Given the description of an element on the screen output the (x, y) to click on. 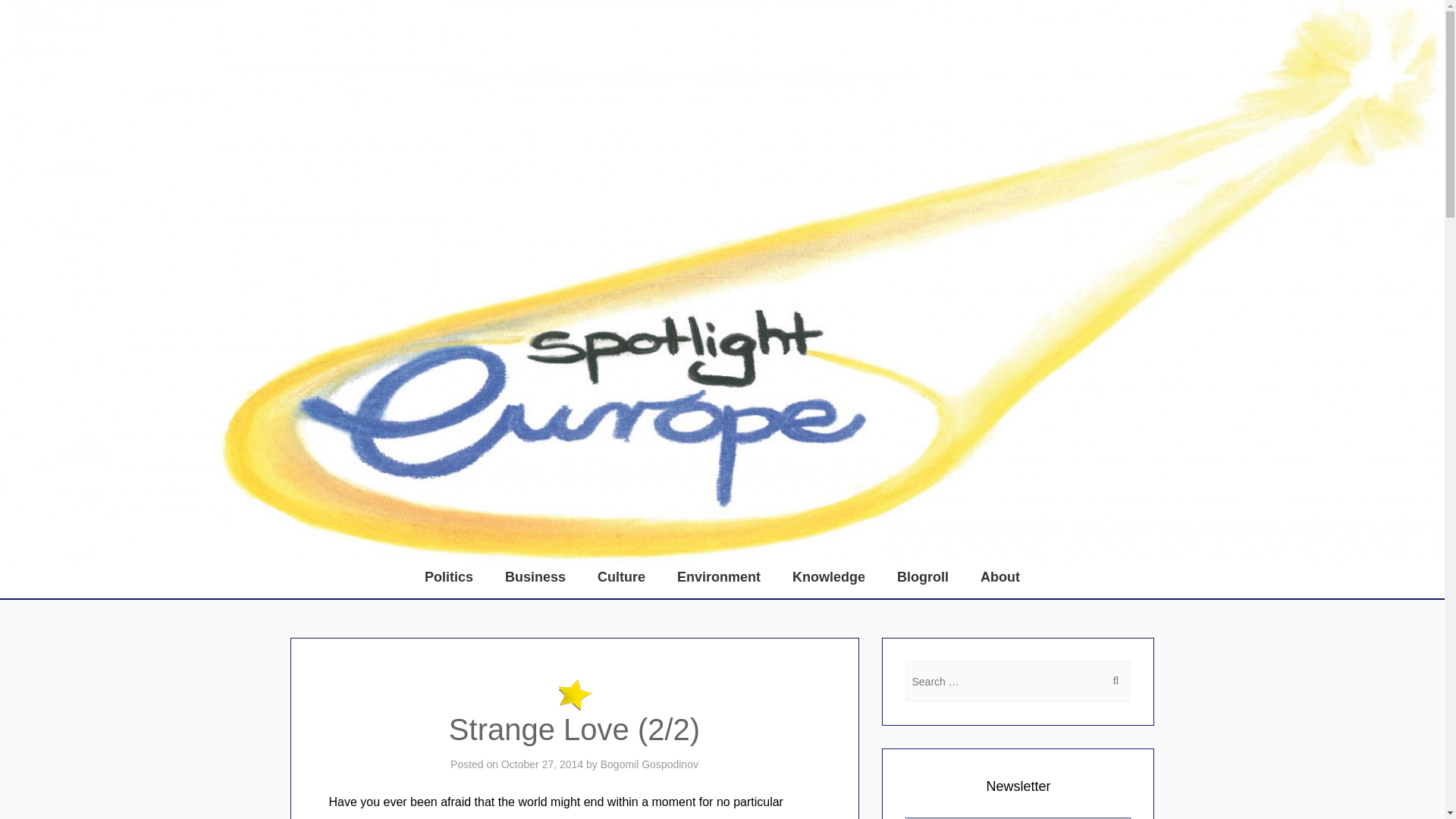
Knowledge (828, 576)
Culture (621, 576)
Bogomil Gospodinov (648, 764)
Business (535, 576)
Environment (718, 576)
October 27, 2014 (541, 764)
About (999, 576)
Politics (448, 576)
Blogroll (922, 576)
